Given the description of an element on the screen output the (x, y) to click on. 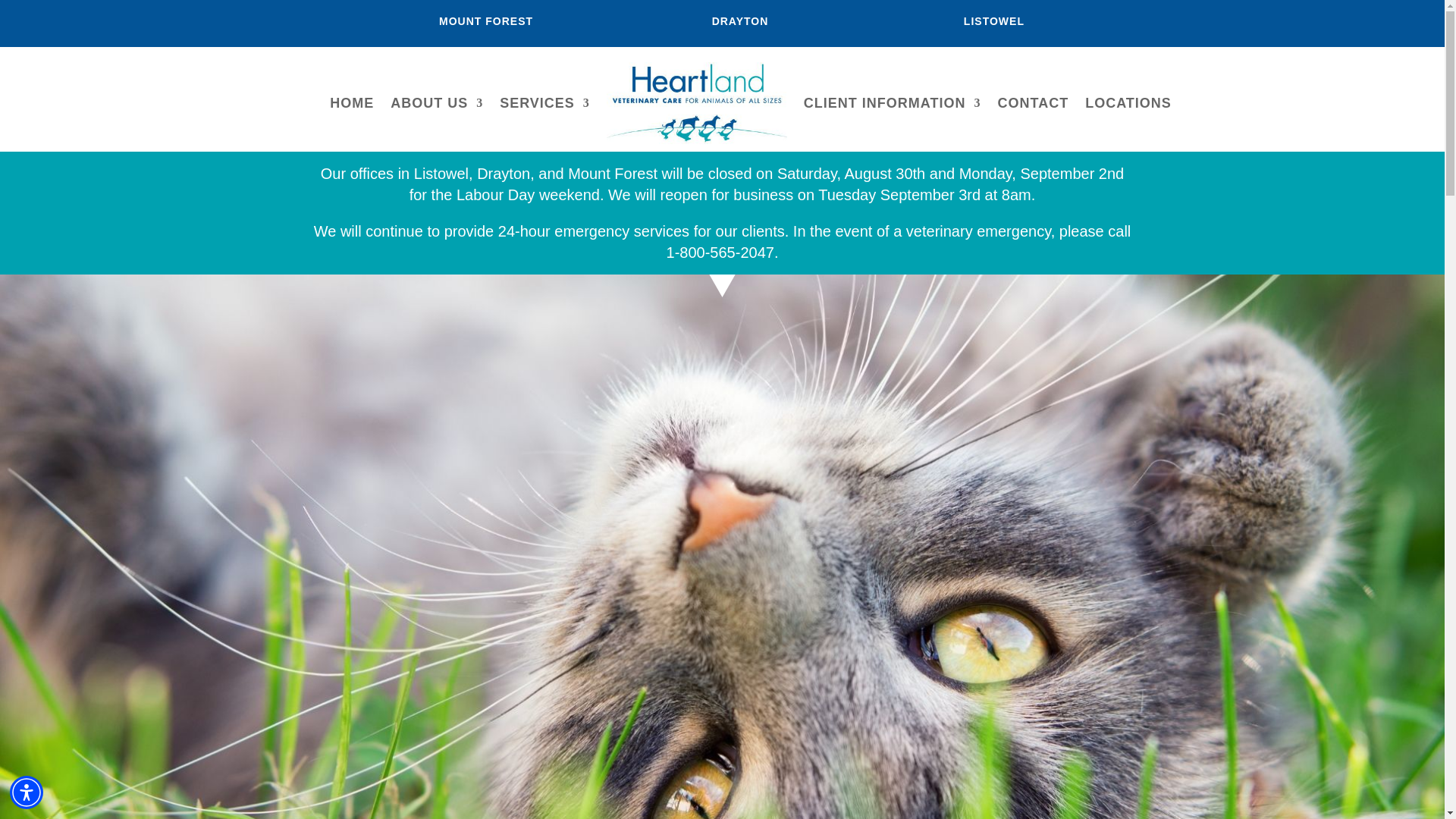
DRAYTON (739, 21)
Accessibility Menu (26, 792)
LOCATIONS (1128, 103)
SERVICES (544, 103)
LISTOWEL (994, 21)
CLIENT INFORMATION (892, 103)
ABOUT US (436, 103)
MOUNT FOREST (485, 21)
